Given the description of an element on the screen output the (x, y) to click on. 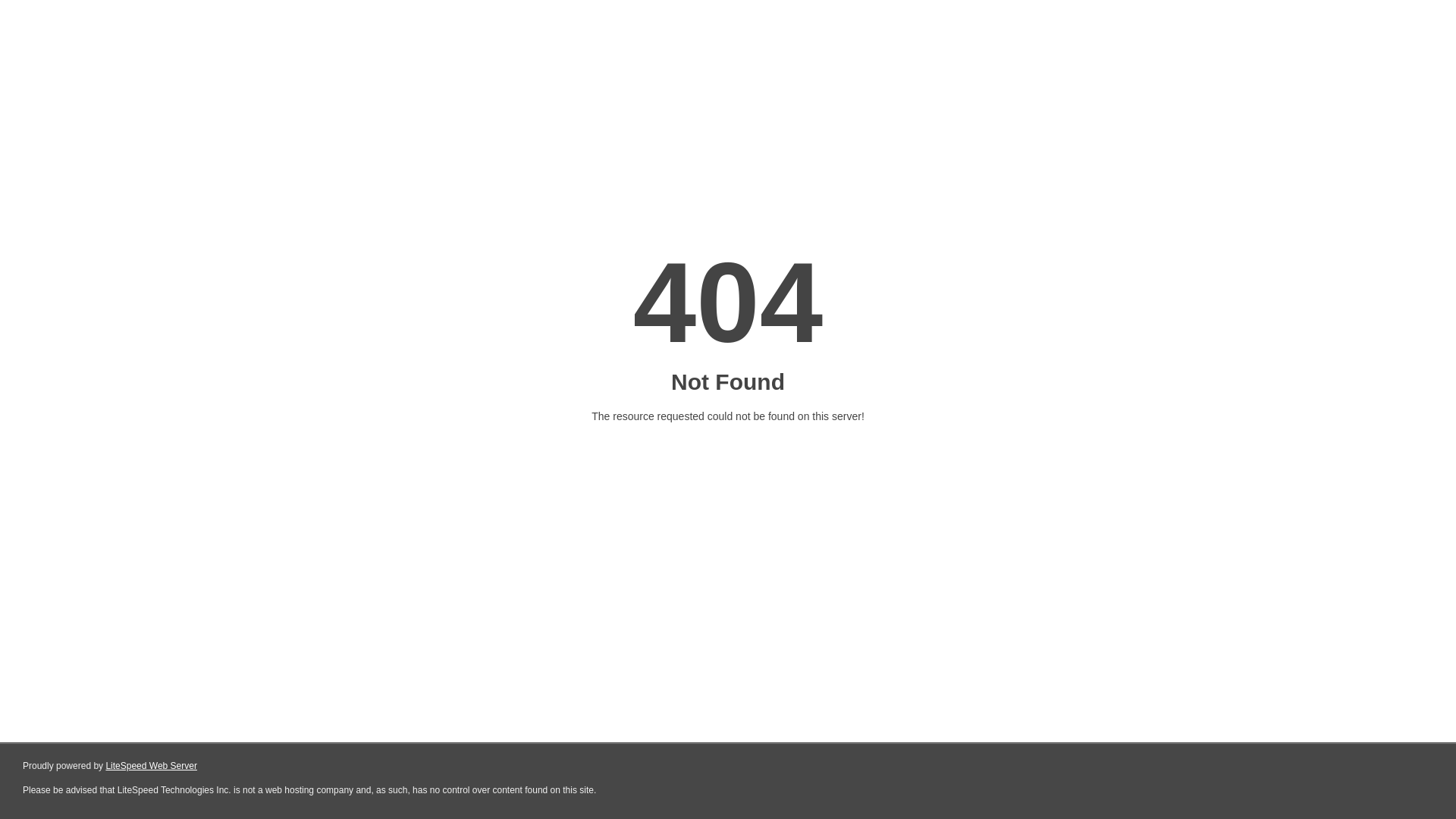
LiteSpeed Web Server Element type: text (151, 765)
